Given the description of an element on the screen output the (x, y) to click on. 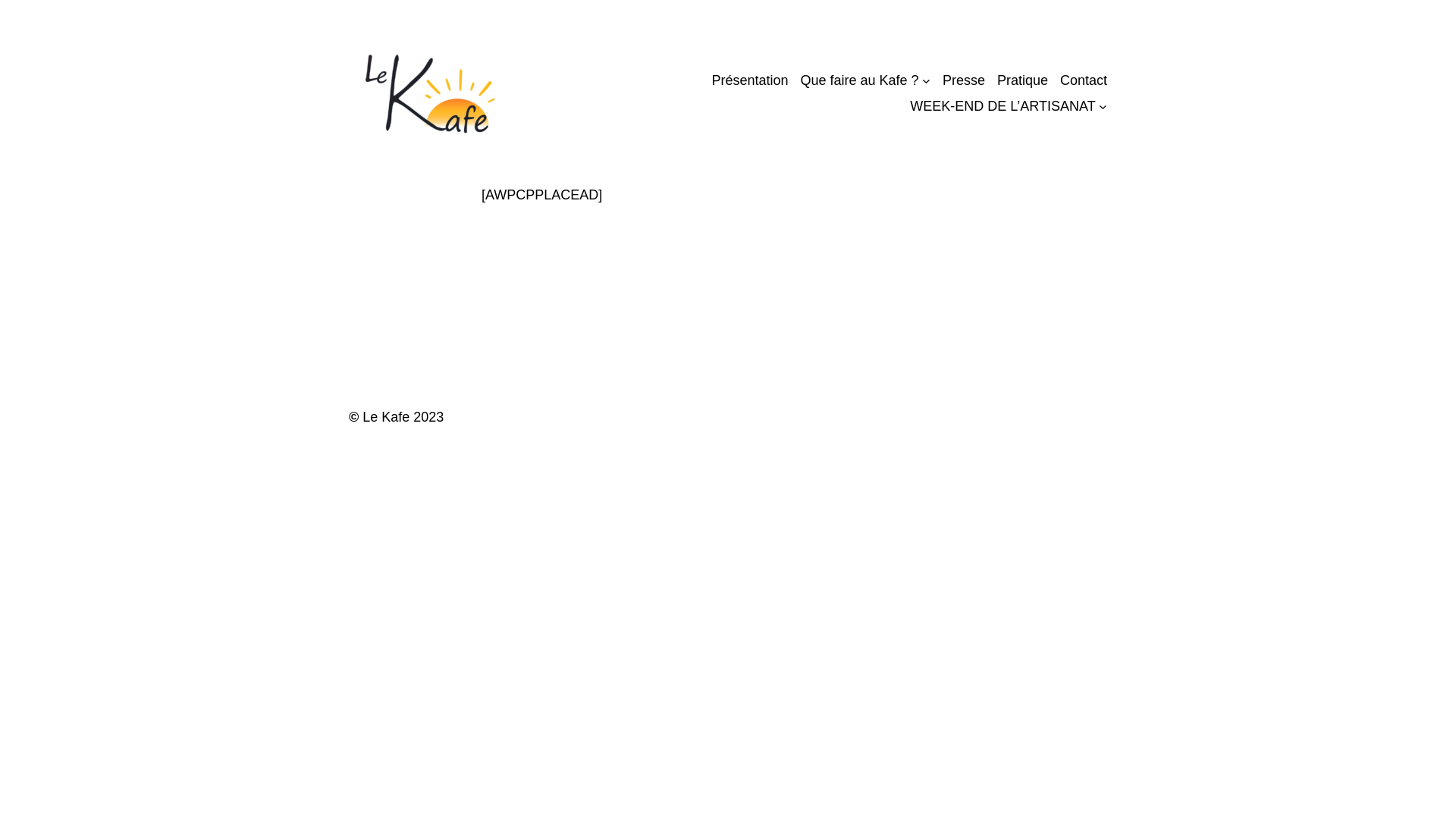
Contact Element type: text (1083, 80)
Presse Element type: text (963, 80)
Que faire au Kafe ? Element type: text (859, 80)
Pratique Element type: text (1022, 80)
